Given the description of an element on the screen output the (x, y) to click on. 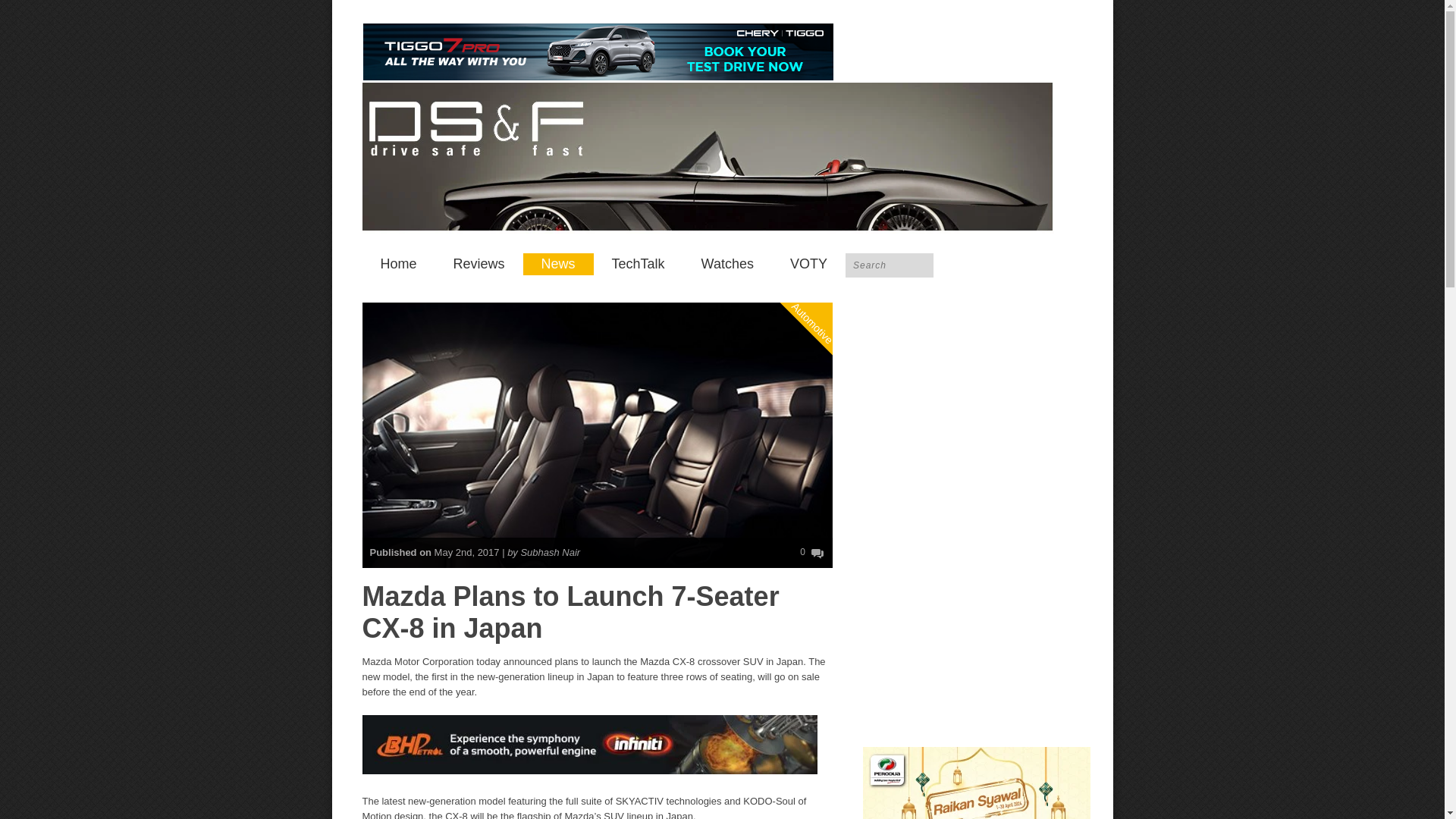
Reviews (478, 264)
Watches (726, 264)
News (558, 264)
TechTalk (638, 264)
Home (398, 264)
VOTY (808, 264)
Automotive (828, 260)
